Given the description of an element on the screen output the (x, y) to click on. 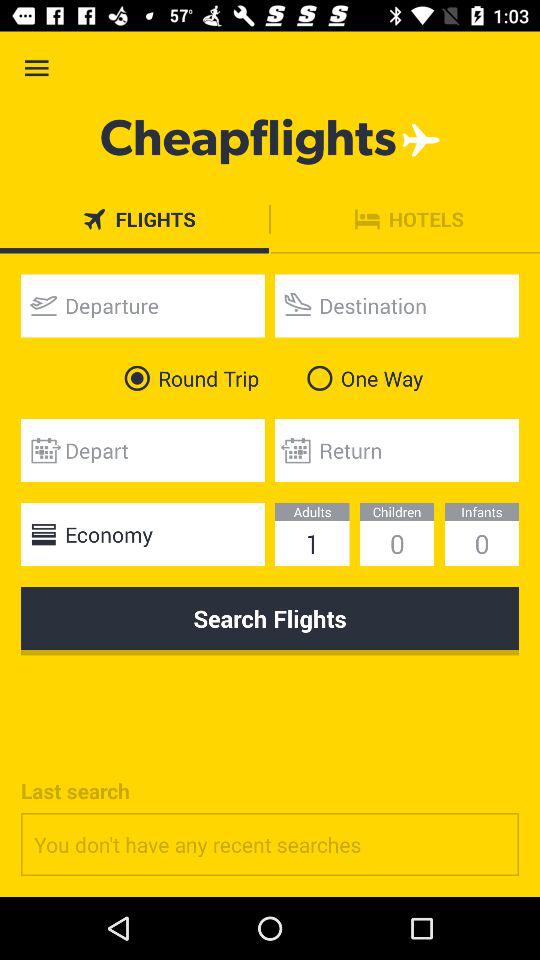
tap the search flights icon (270, 621)
